Given the description of an element on the screen output the (x, y) to click on. 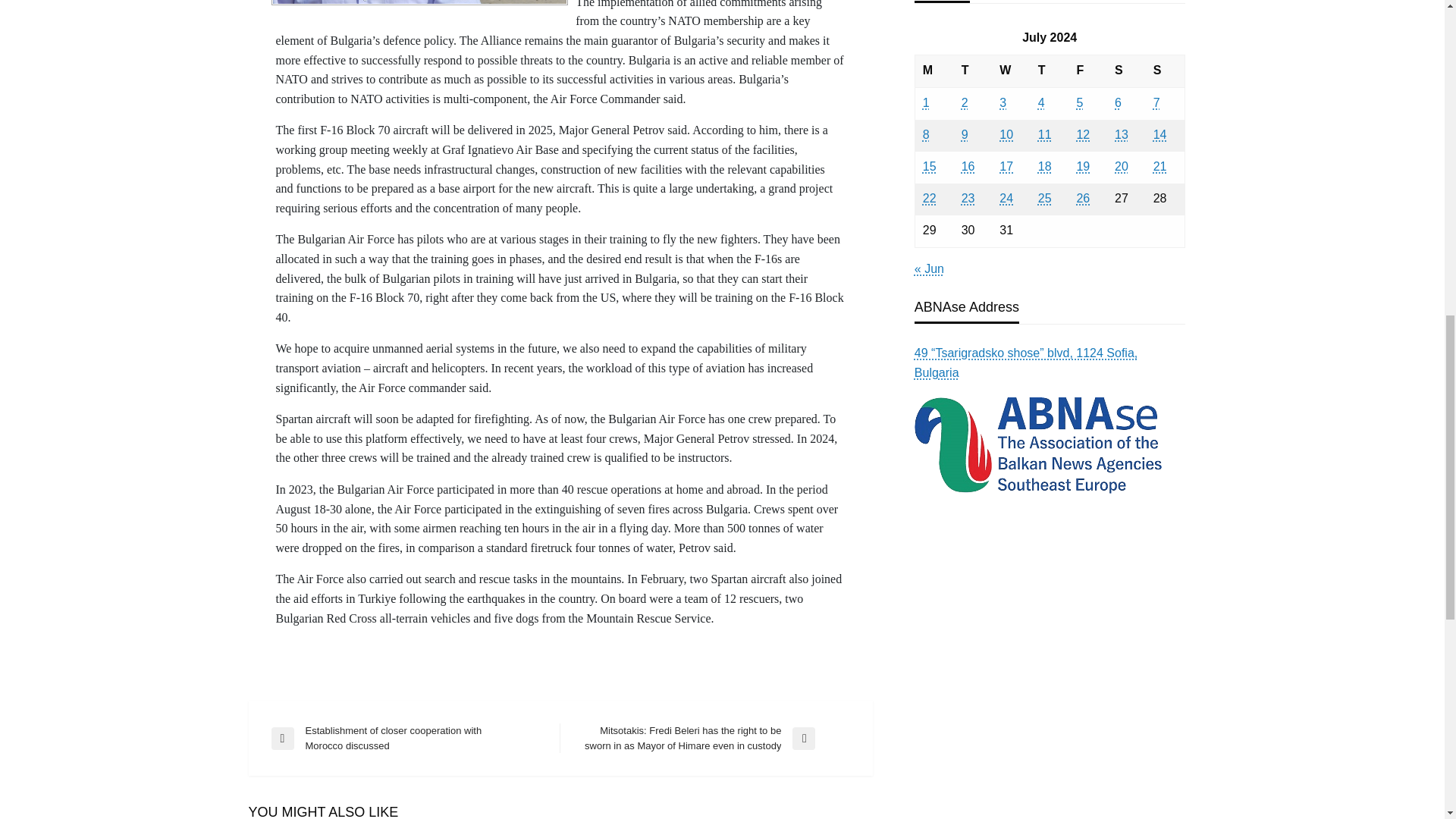
Monday (933, 71)
